Given the description of an element on the screen output the (x, y) to click on. 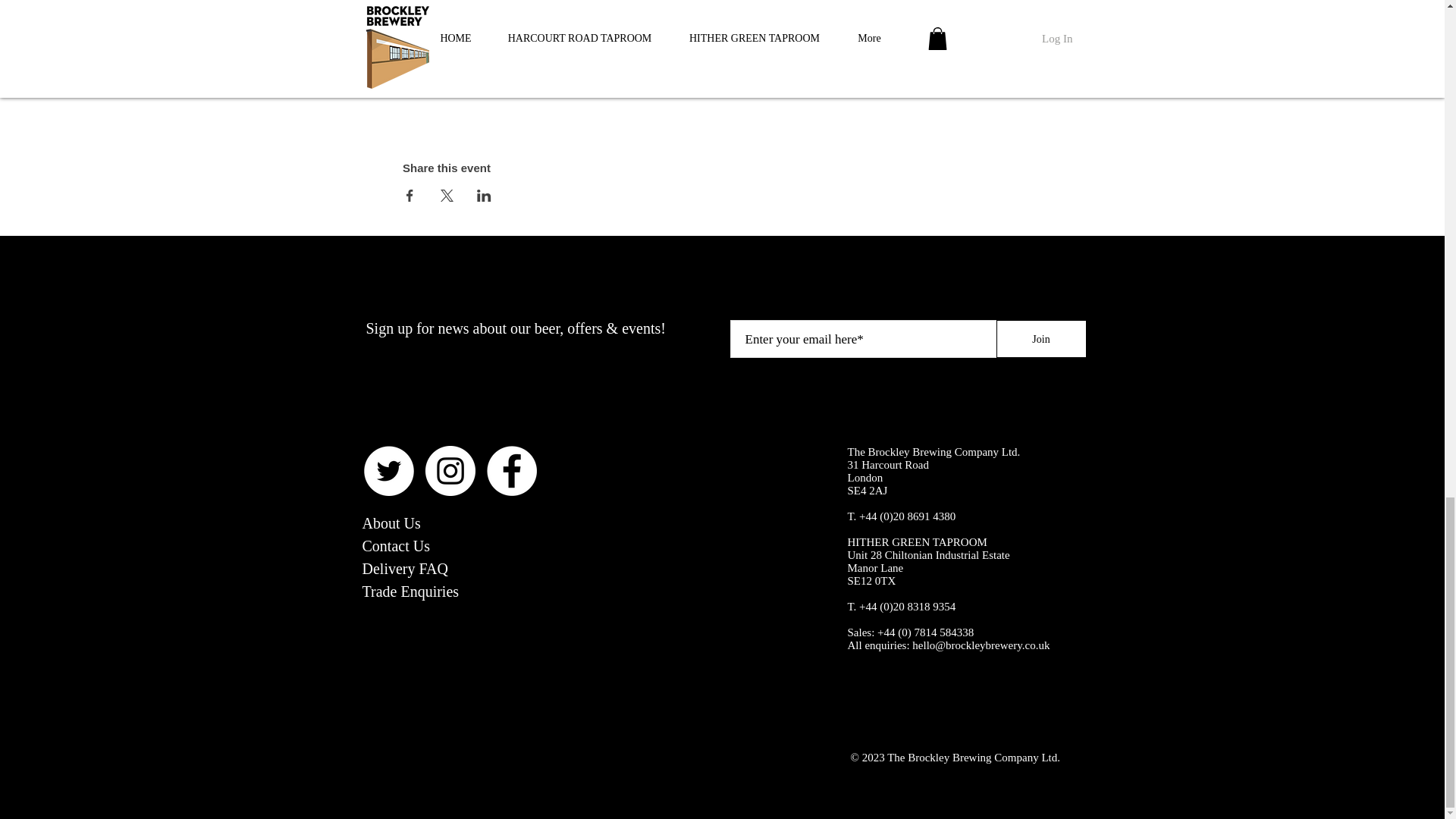
Join (1040, 338)
The Brockley Brewing Company Ltd. (933, 451)
Trade Enquiries (411, 591)
About Us (391, 523)
Delivery FAQ (405, 568)
31 Harcourt Road (887, 464)
Contact Us (395, 545)
